Given the description of an element on the screen output the (x, y) to click on. 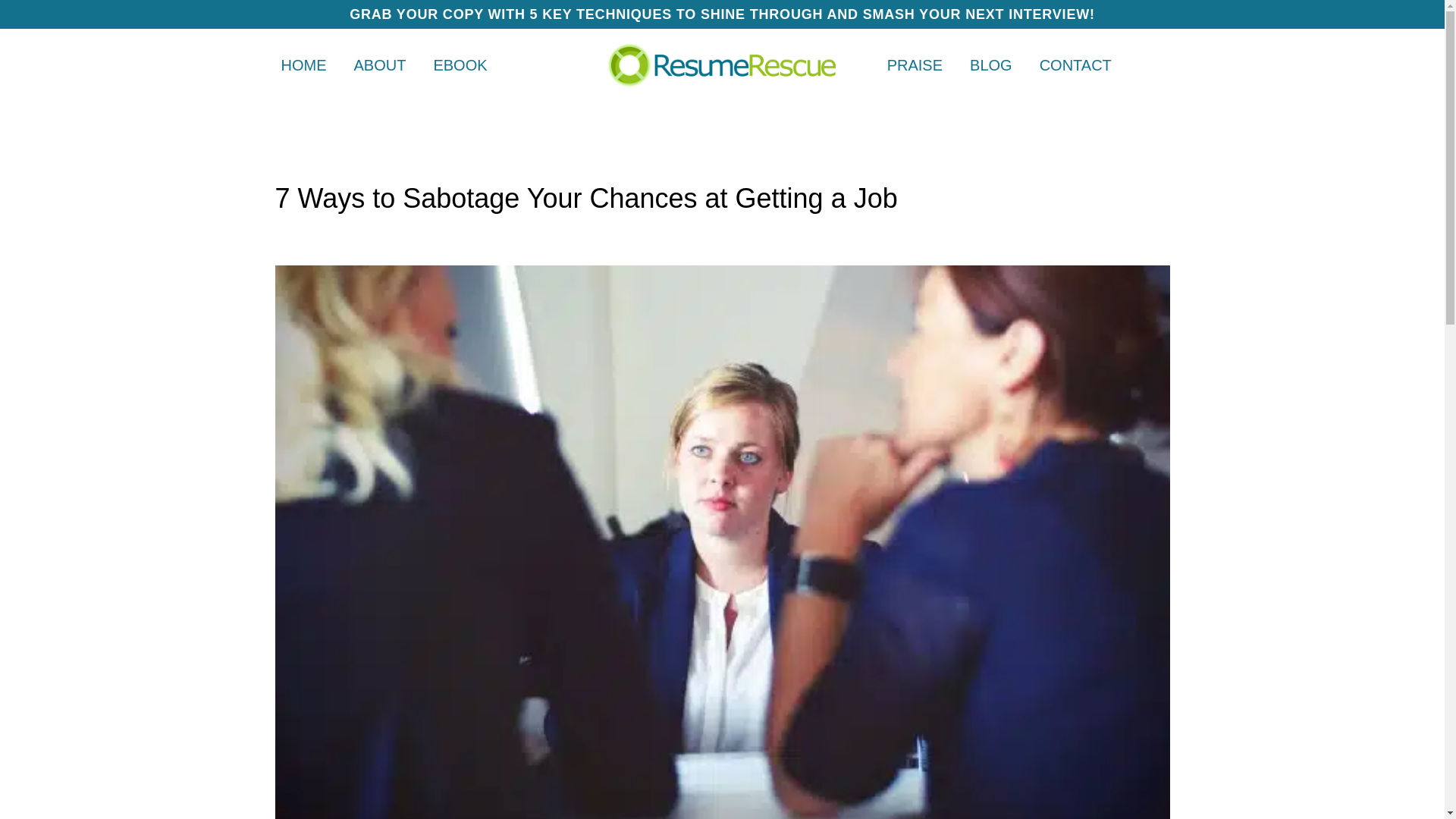
HOME (302, 64)
PRAISE (914, 64)
BLOG (991, 64)
ABOUT (379, 64)
EBOOK (459, 64)
CONTACT (1075, 64)
